Given the description of an element on the screen output the (x, y) to click on. 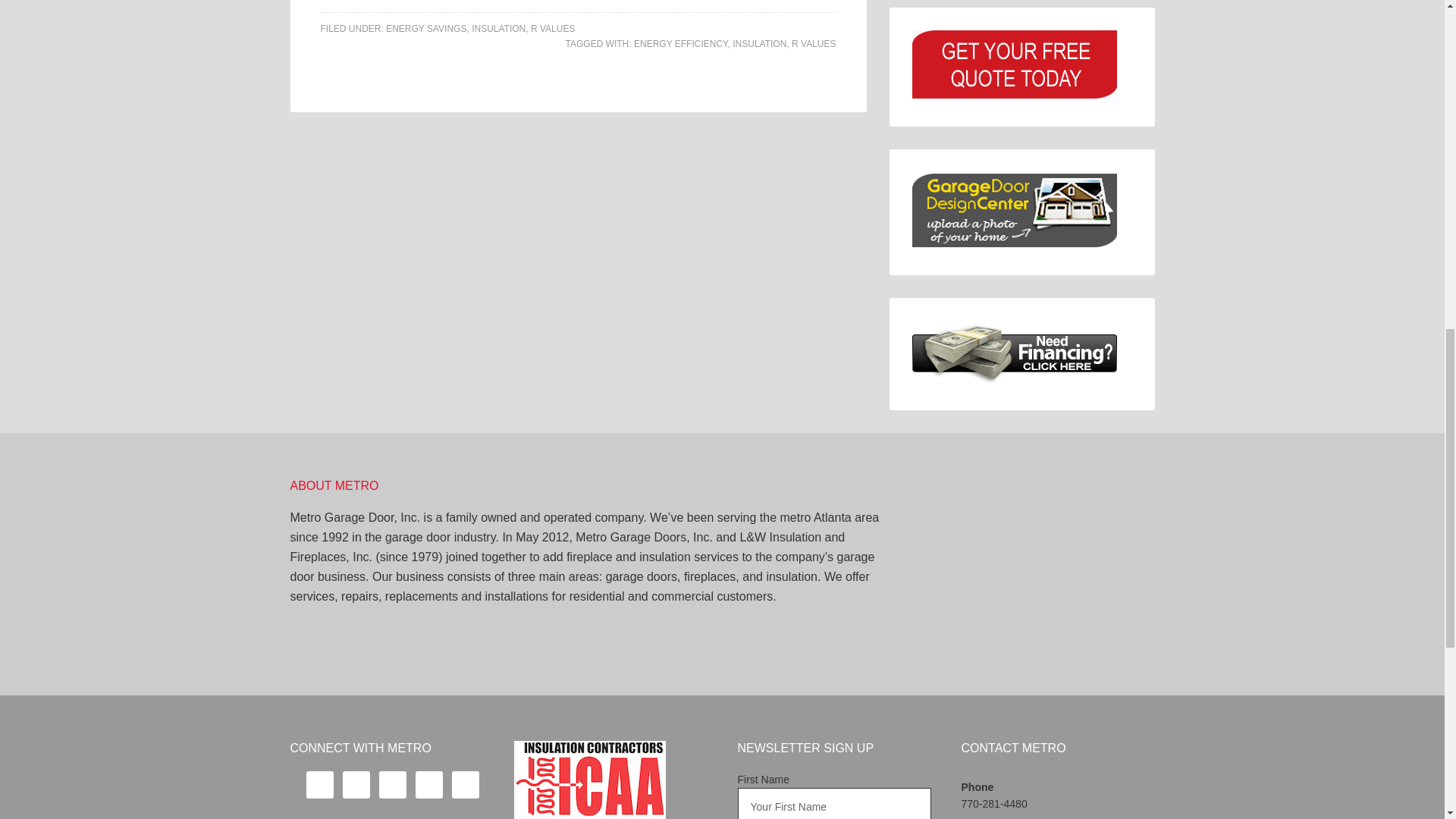
INSULATION (498, 28)
ENERGY SAVINGS (425, 28)
ENERGY EFFICIENCY (680, 43)
INSULATION (759, 43)
R VALUES (813, 43)
R VALUES (553, 28)
